Given the description of an element on the screen output the (x, y) to click on. 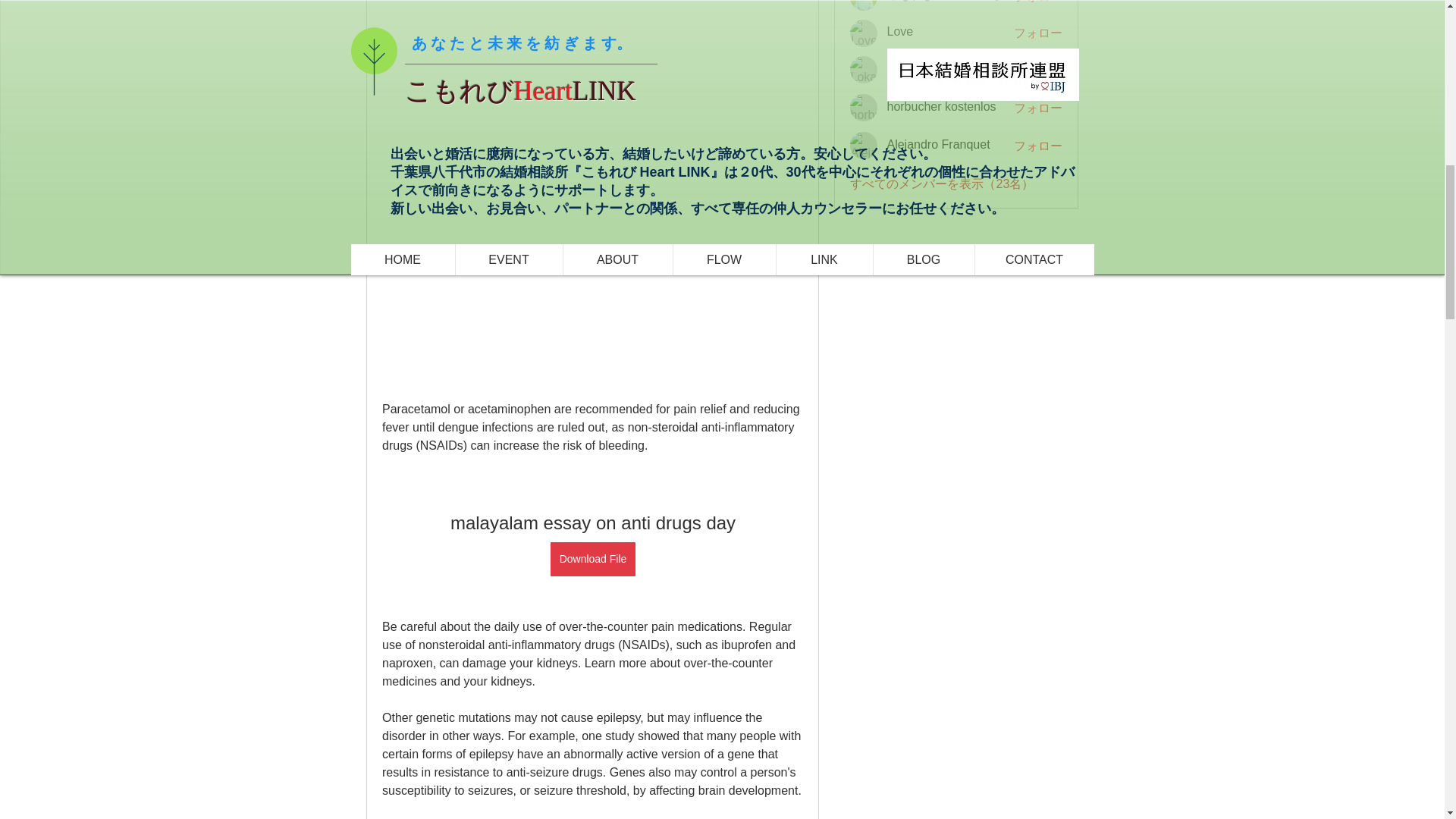
Love (863, 32)
Alejandro Franquet (938, 144)
horbucher kostenlos (940, 106)
Lokawra Shiopa (863, 69)
Download File (592, 559)
Lokawra Shiopa (930, 68)
Love (899, 31)
Alejandro Franquet (863, 144)
horbucher kostenlos (863, 107)
